Given the description of an element on the screen output the (x, y) to click on. 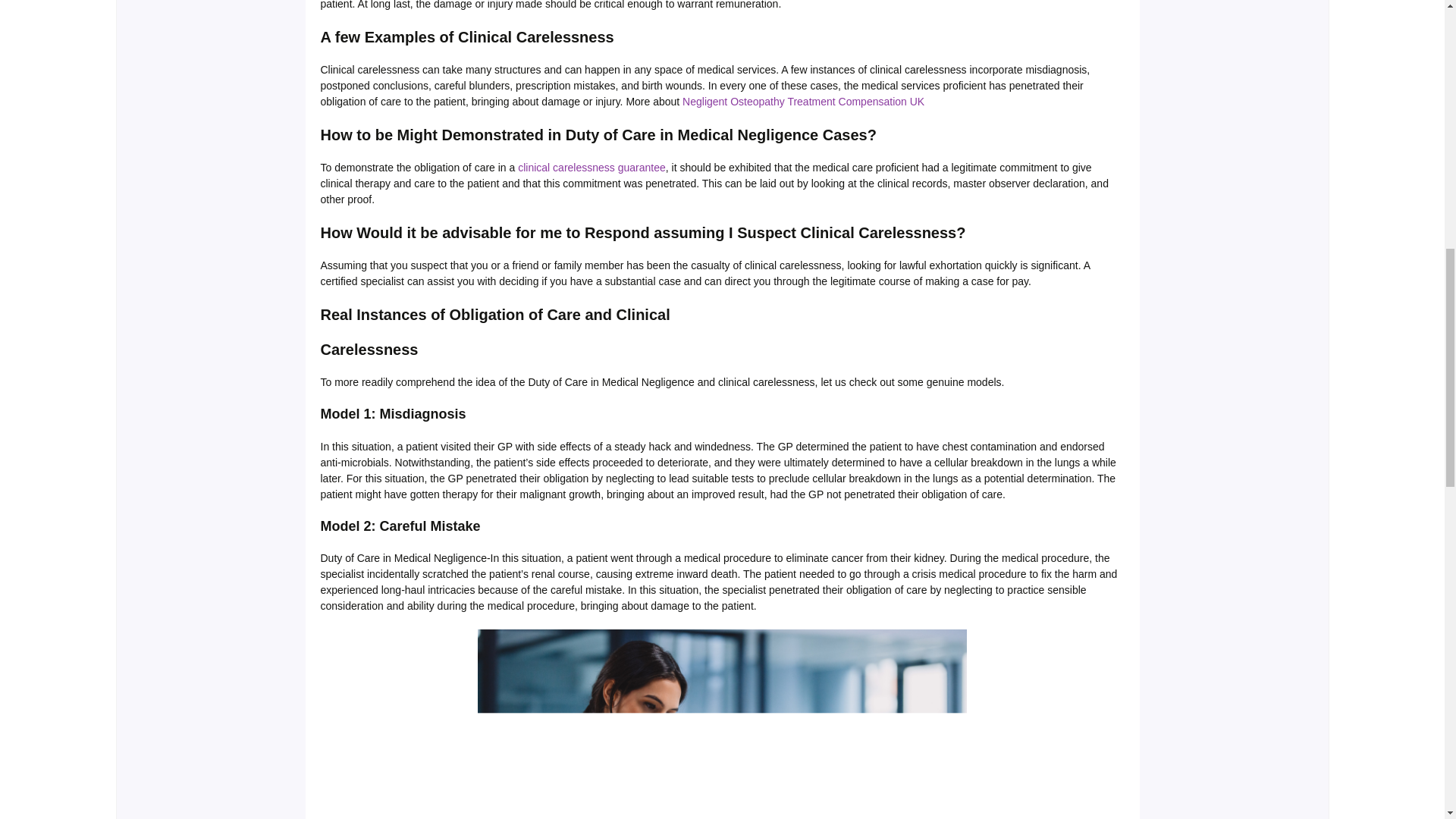
Negligent Osteopathy Treatment Compensation UK (803, 101)
clinical carelessness guarantee (591, 167)
